Given the description of an element on the screen output the (x, y) to click on. 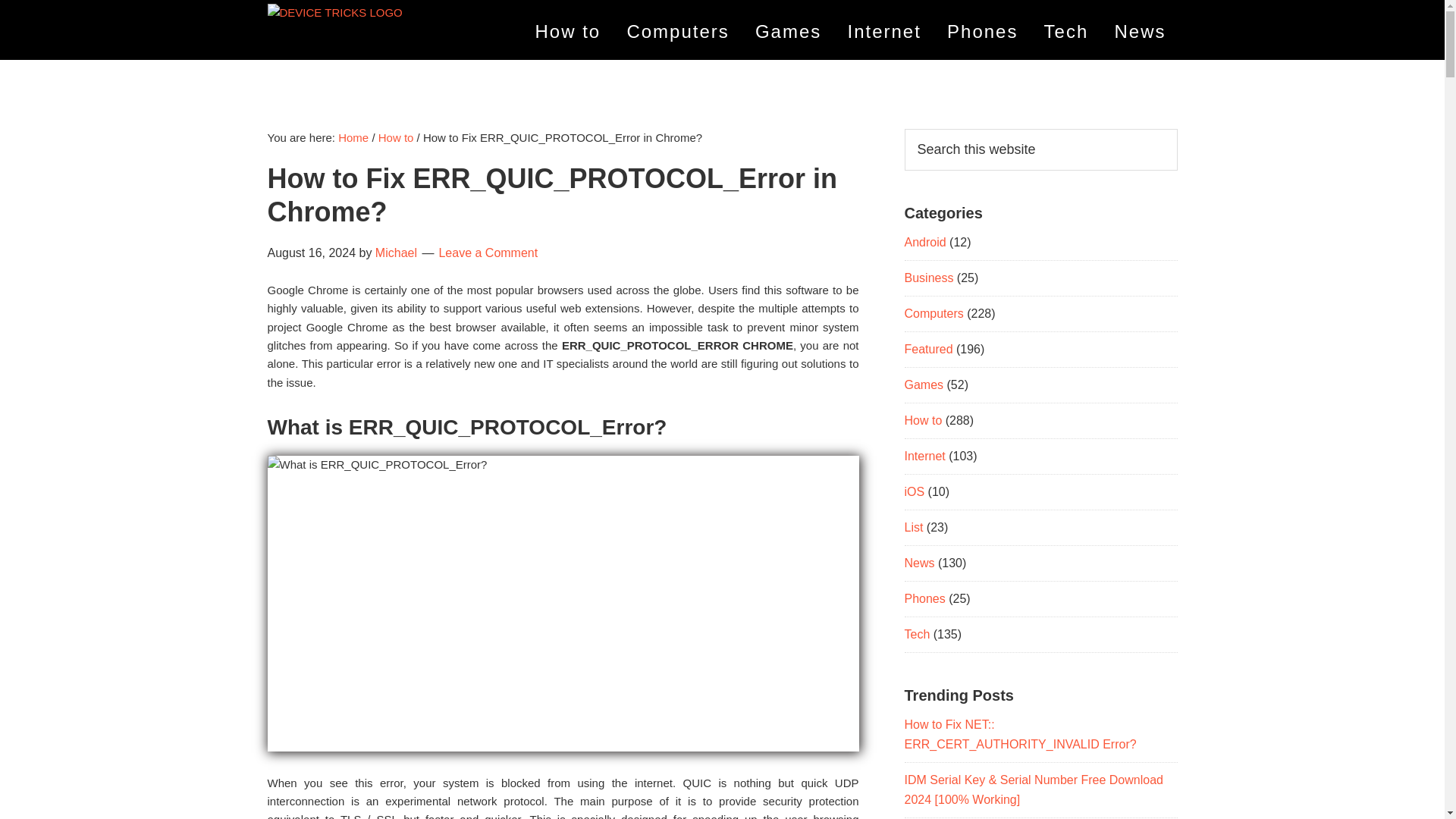
News (1139, 31)
Home (352, 137)
Featured (928, 349)
How to (395, 137)
How to (568, 31)
Tech (1066, 31)
Device Tricks (293, 39)
Business (928, 277)
Computers (676, 31)
